Given the description of an element on the screen output the (x, y) to click on. 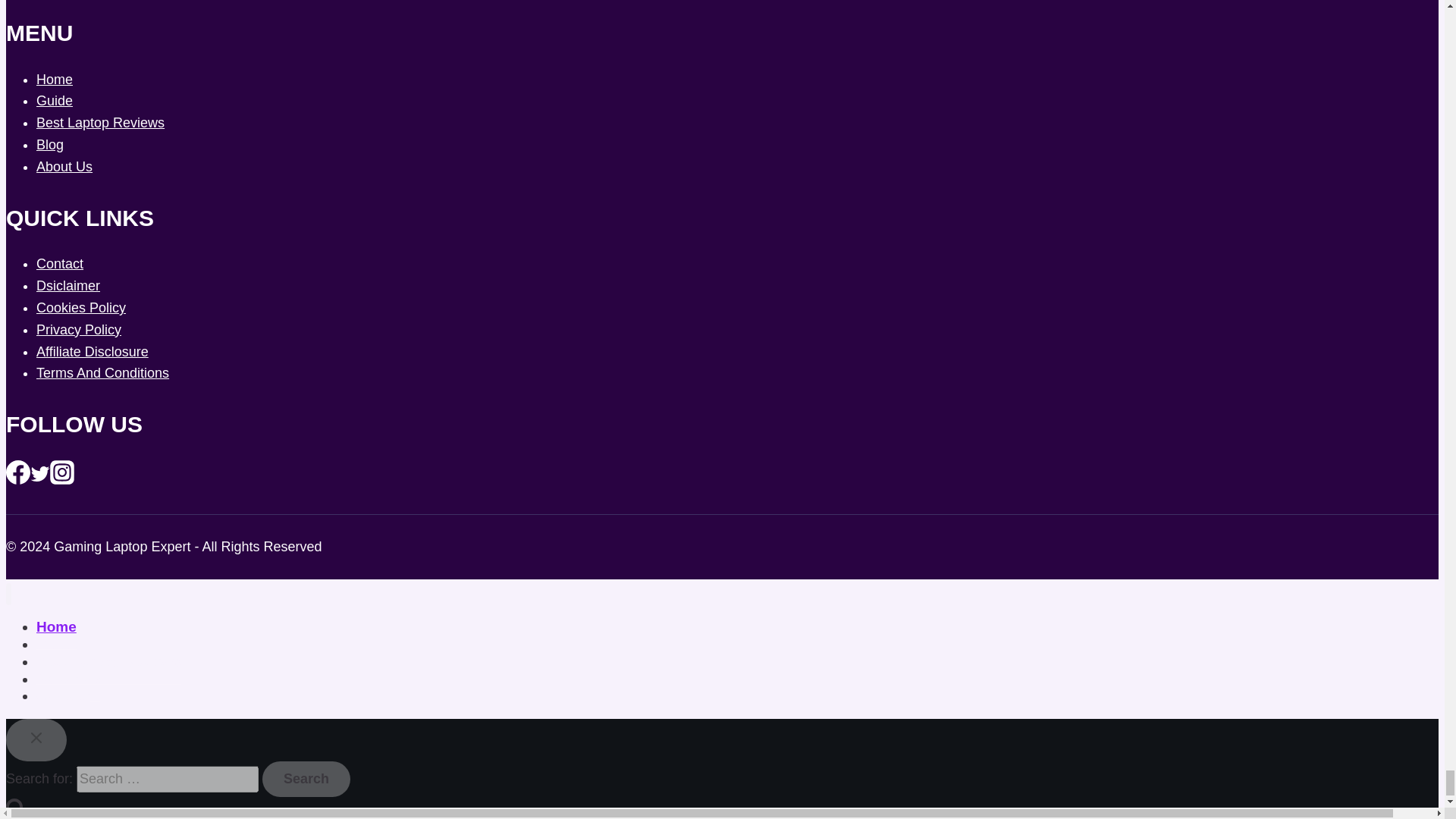
Search (306, 779)
Search (306, 779)
